Given the description of an element on the screen output the (x, y) to click on. 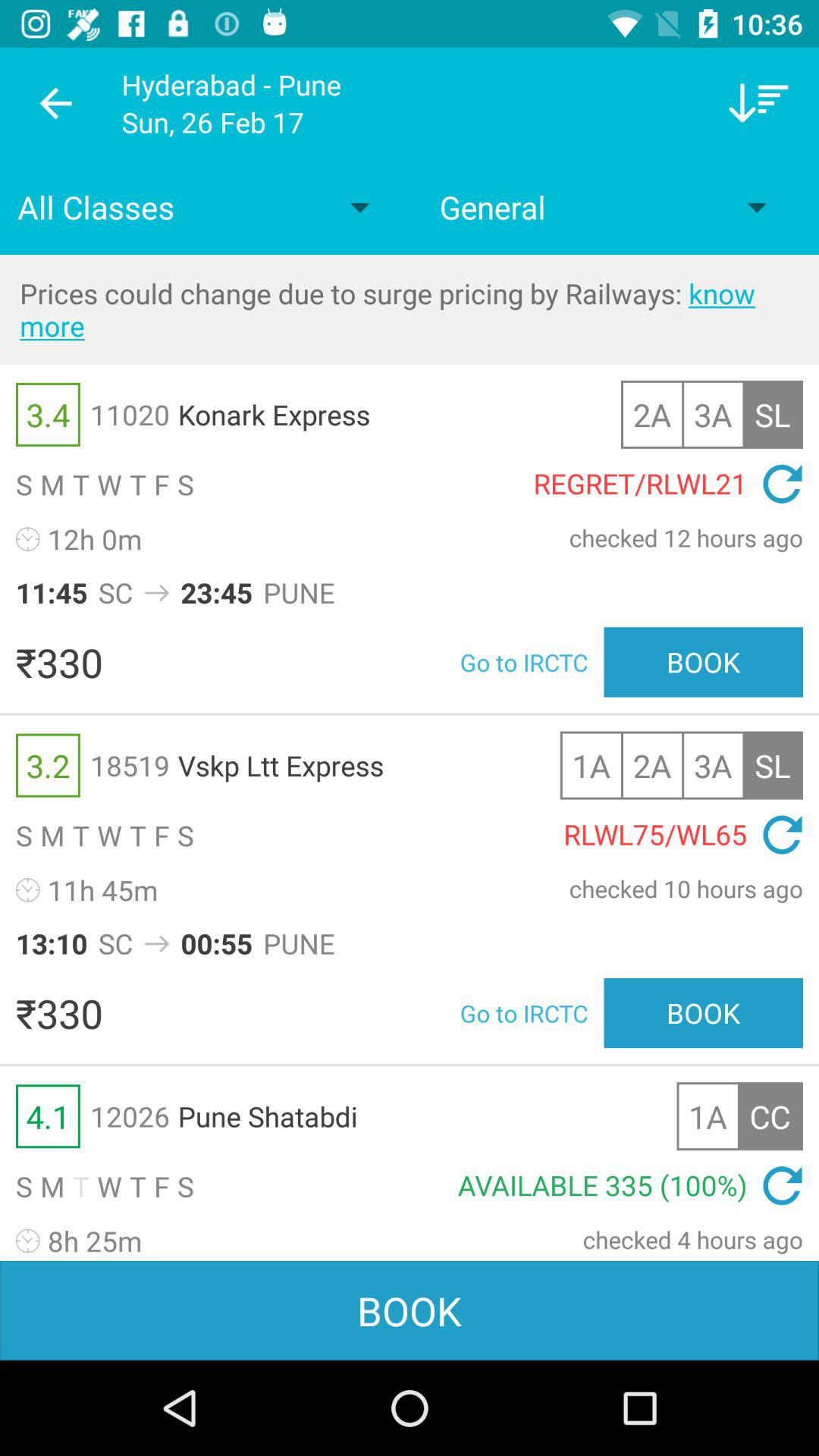
reorders page (758, 103)
